Given the description of an element on the screen output the (x, y) to click on. 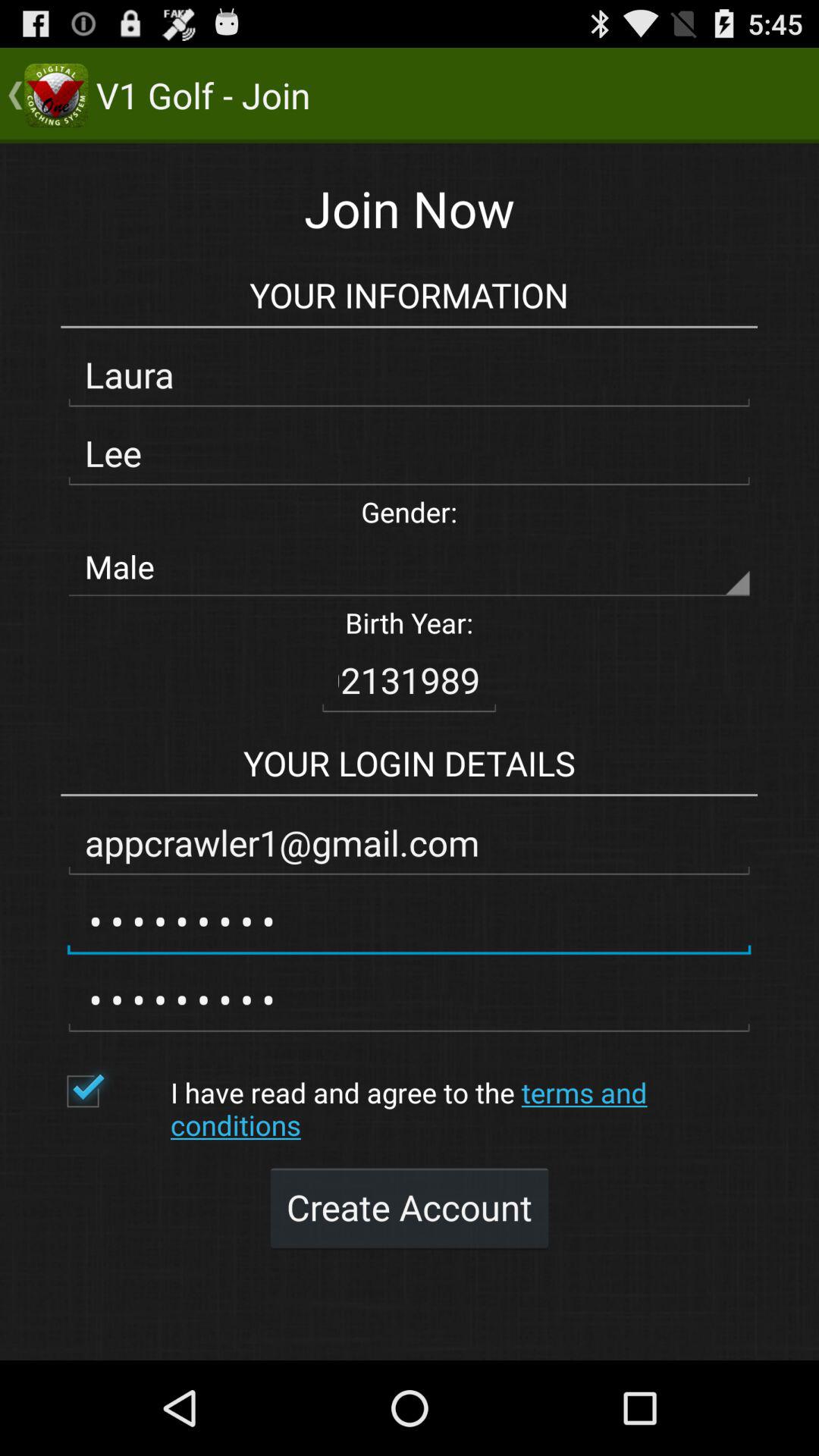
check agreement to the terms and conditions (110, 1091)
